Given the description of an element on the screen output the (x, y) to click on. 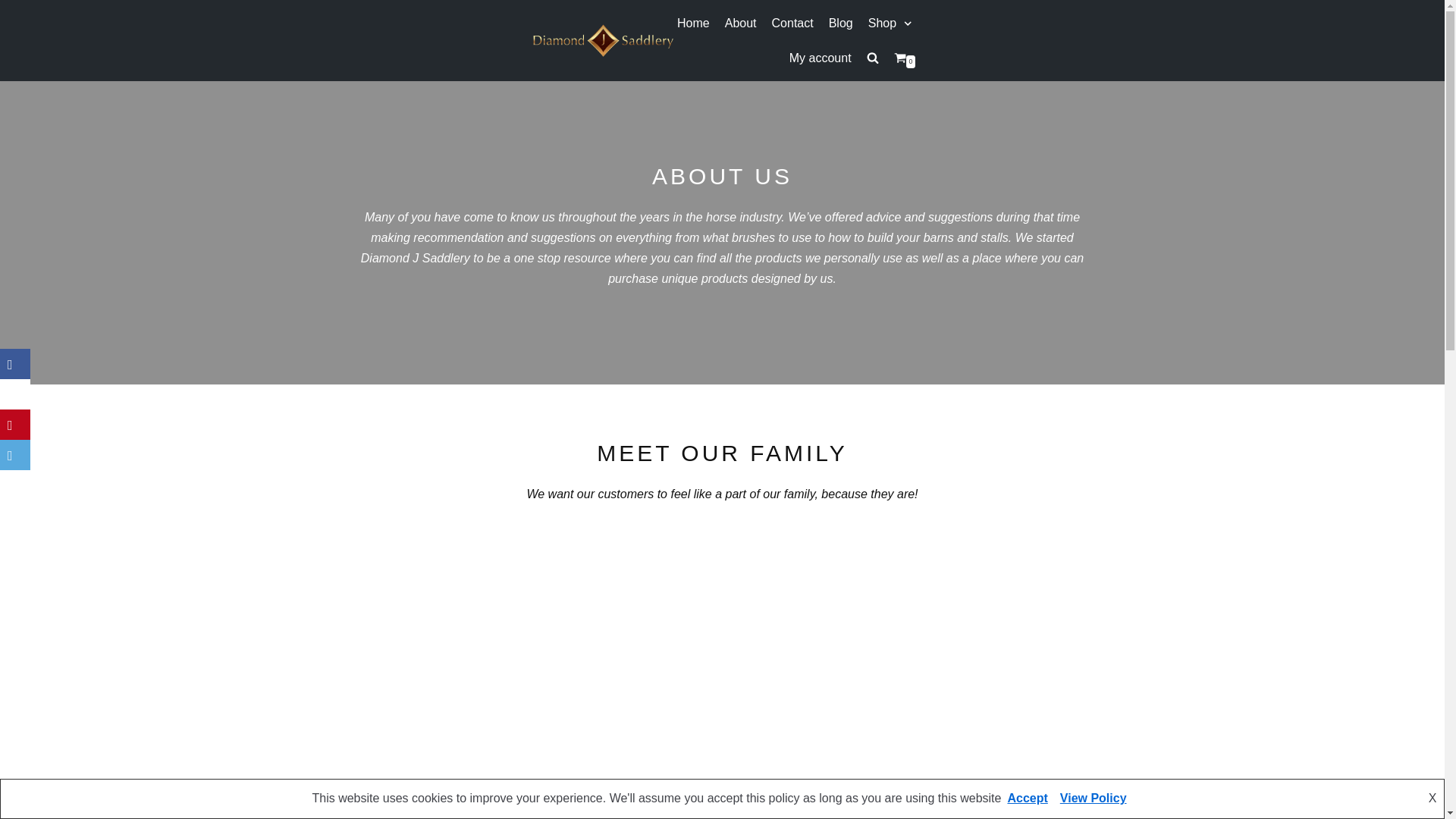
Search (846, 95)
Skip to content (15, 7)
0 (904, 57)
Contact (792, 23)
Home (693, 23)
My account (820, 57)
Blog (840, 23)
DIAMOND J SADDLERY (603, 40)
About (741, 23)
Shop (891, 23)
